Given the description of an element on the screen output the (x, y) to click on. 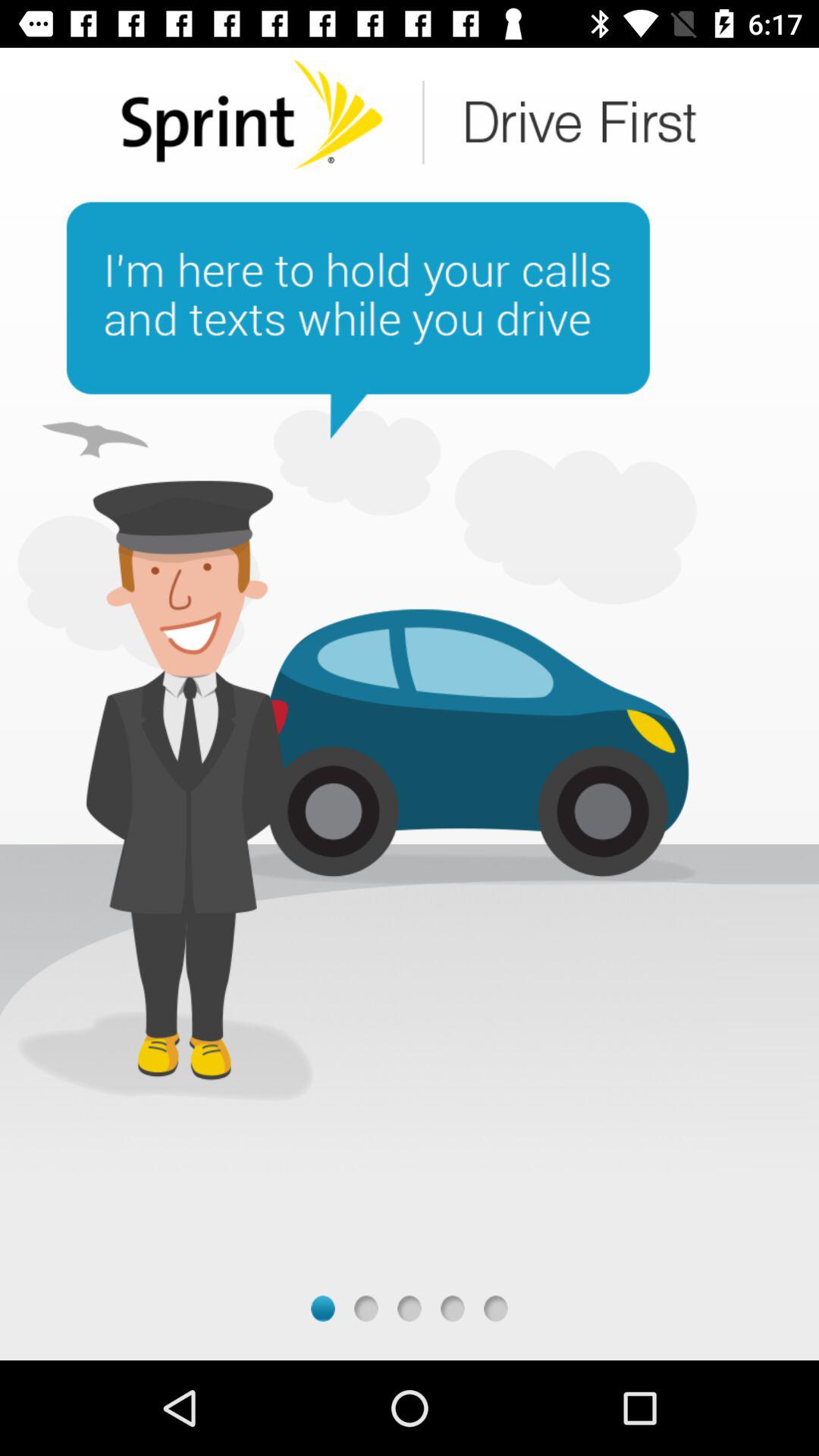
go to the fourth page (452, 1308)
